Given the description of an element on the screen output the (x, y) to click on. 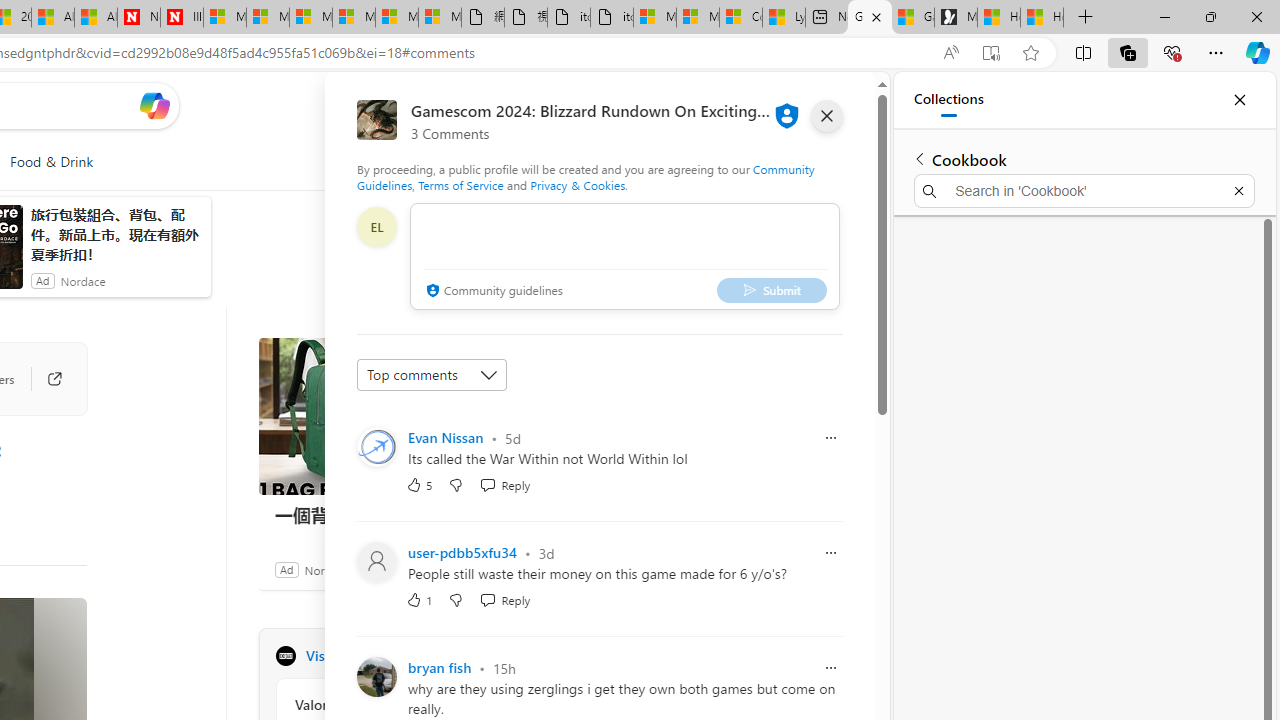
Search in 'Cookbook' (1084, 190)
Exit search (1238, 190)
Profile Picture (376, 676)
Back to list of collections (920, 158)
Ad Choice (535, 569)
Community Guidelines (586, 176)
Microsoft Start Gaming (955, 17)
Privacy & Cookies (577, 184)
Terms of Service (461, 184)
Enter Immersive Reader (F9) (991, 53)
